Given the description of an element on the screen output the (x, y) to click on. 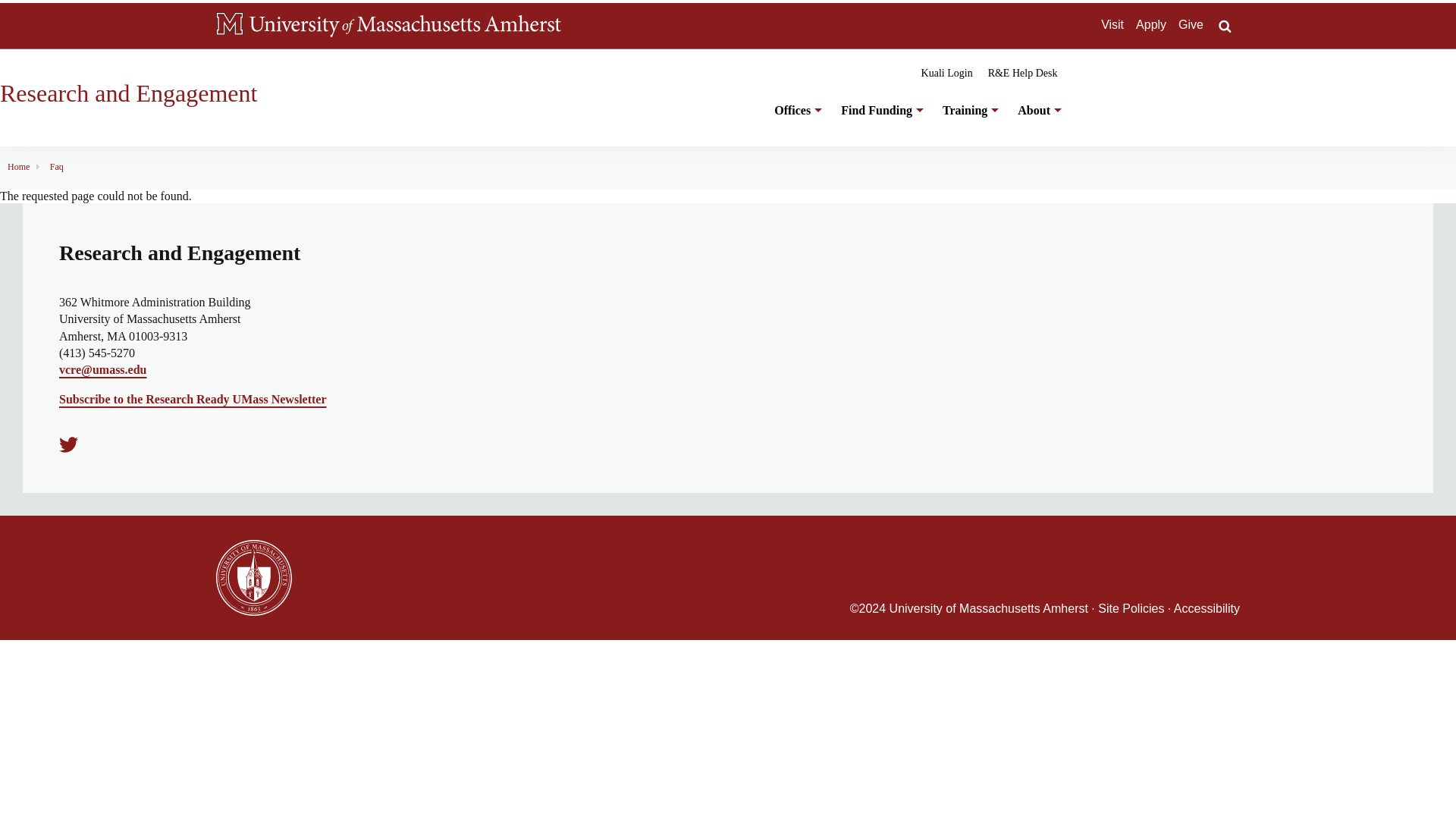
UMass Amherst (404, 25)
The University of Massachusetts Amherst (404, 25)
Visit (1112, 24)
UMass Collegiate M (229, 23)
Kuali Login (946, 73)
Apply (1150, 24)
Search UMass.edu (1224, 26)
Give (1190, 24)
Research and Engagement (128, 93)
UMass Collegiate M (229, 25)
